Given the description of an element on the screen output the (x, y) to click on. 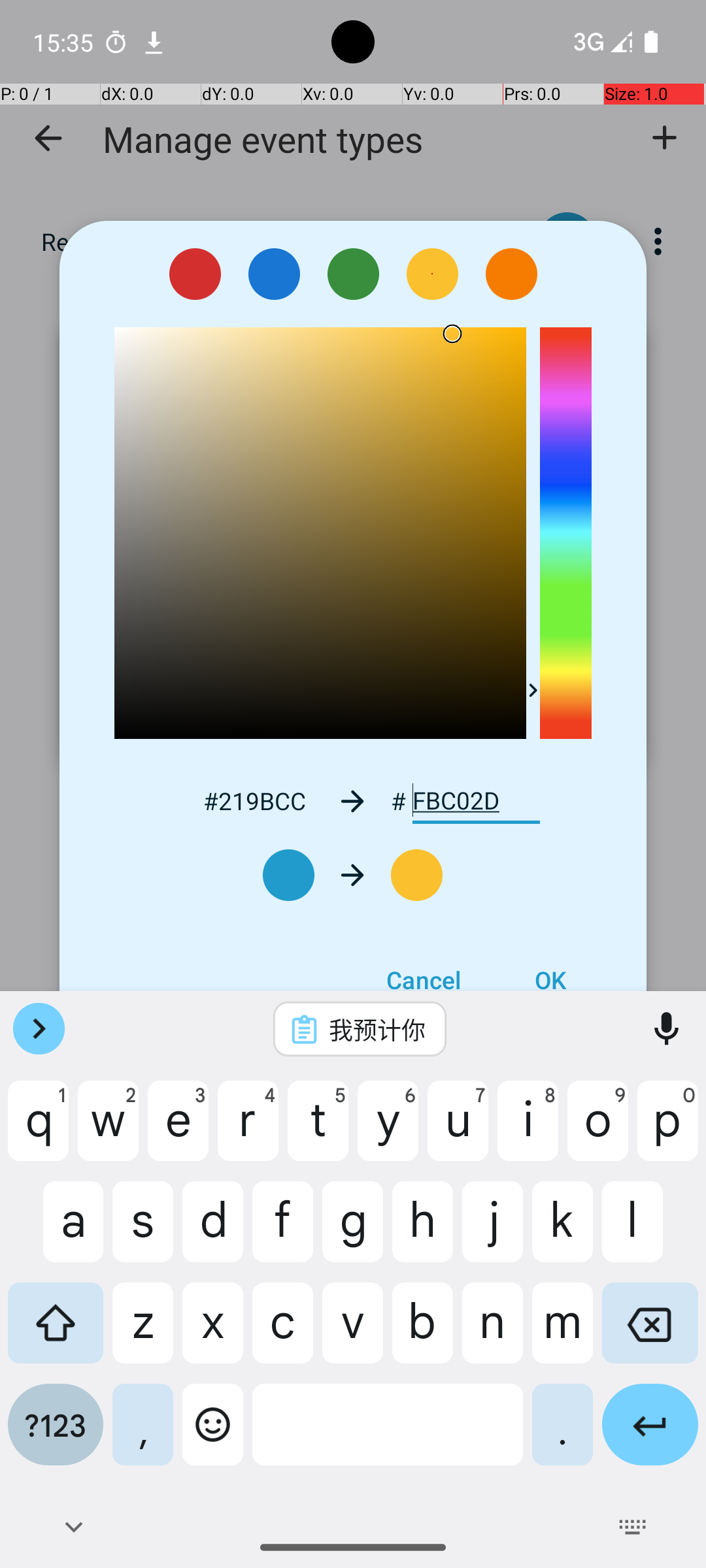
FBC02D Element type: android.widget.EditText (475, 800)
我预计你 Element type: android.widget.TextView (376, 1028)
